Given the description of an element on the screen output the (x, y) to click on. 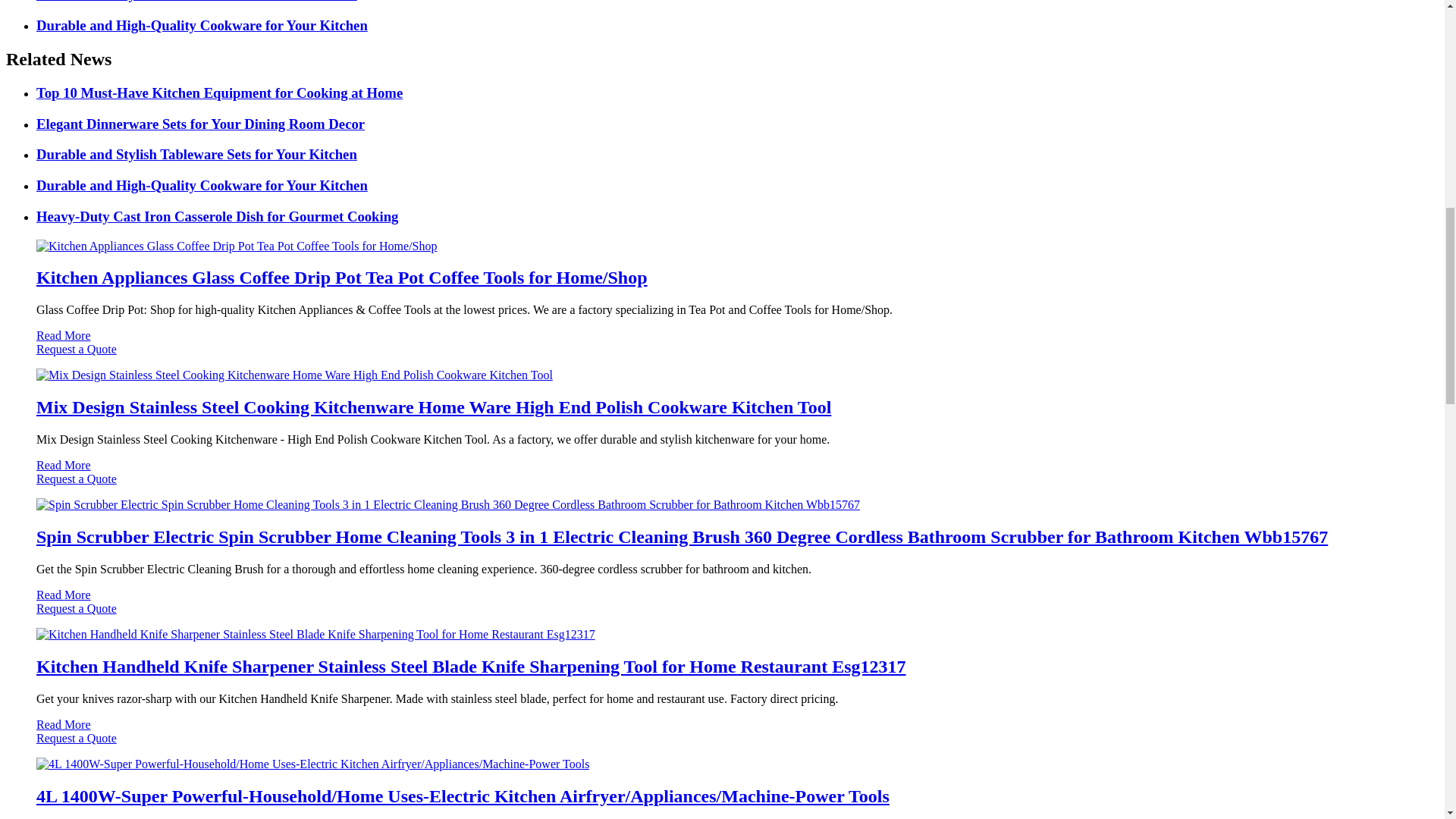
Request a Quote (721, 356)
Read More (63, 335)
